Given the description of an element on the screen output the (x, y) to click on. 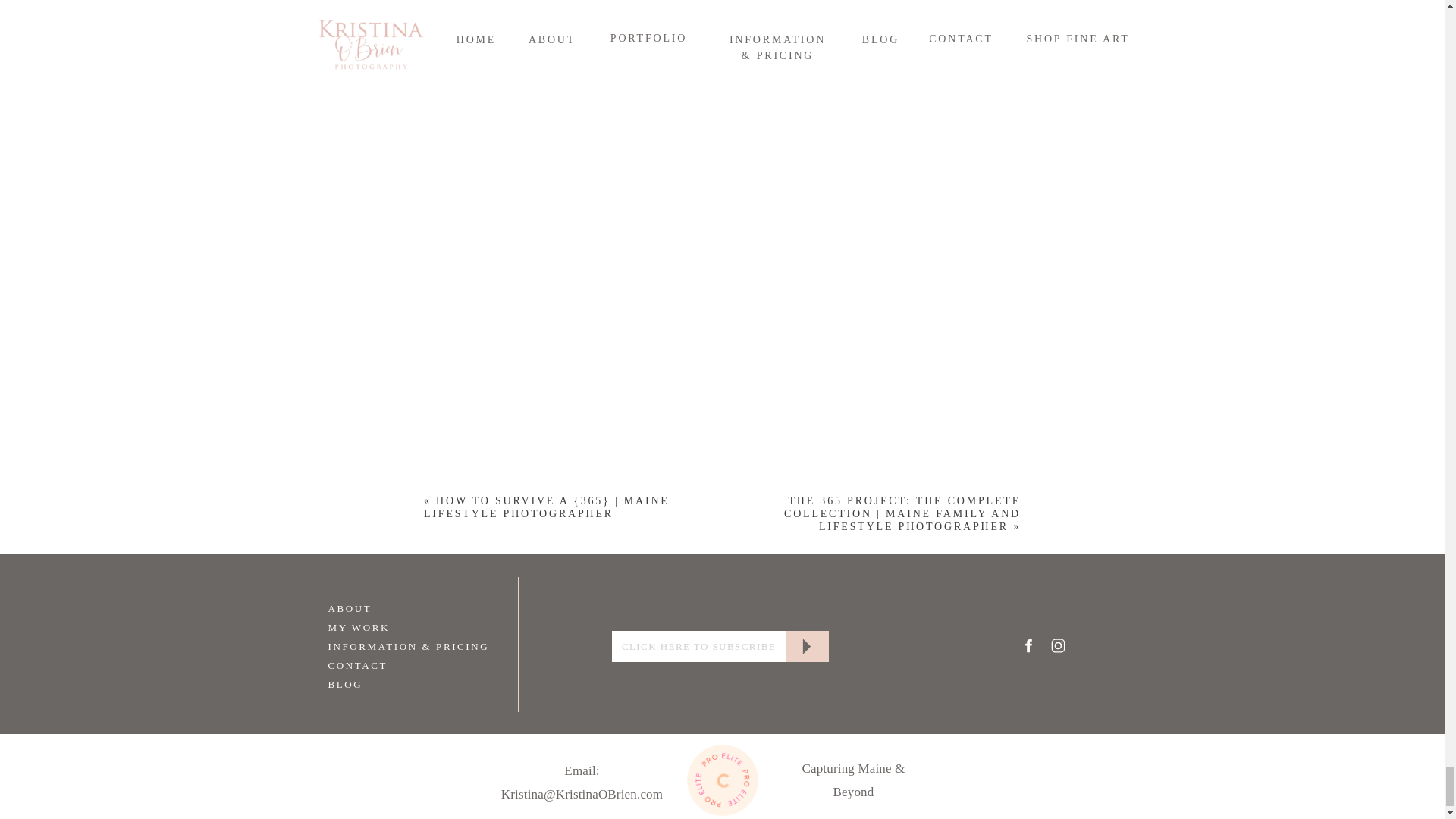
BLOG (384, 683)
ABOUT (384, 607)
MY WORK (384, 626)
COPYRIGHT: KRISTINA O'BRIEN (722, 817)
CONTACT (384, 663)
